Given the description of an element on the screen output the (x, y) to click on. 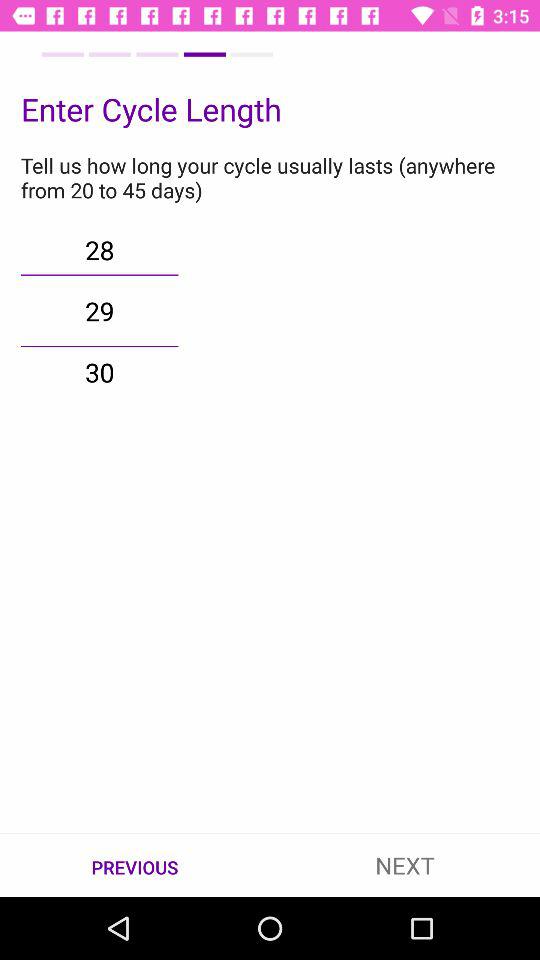
select the item to the left of the next (135, 865)
